Given the description of an element on the screen output the (x, y) to click on. 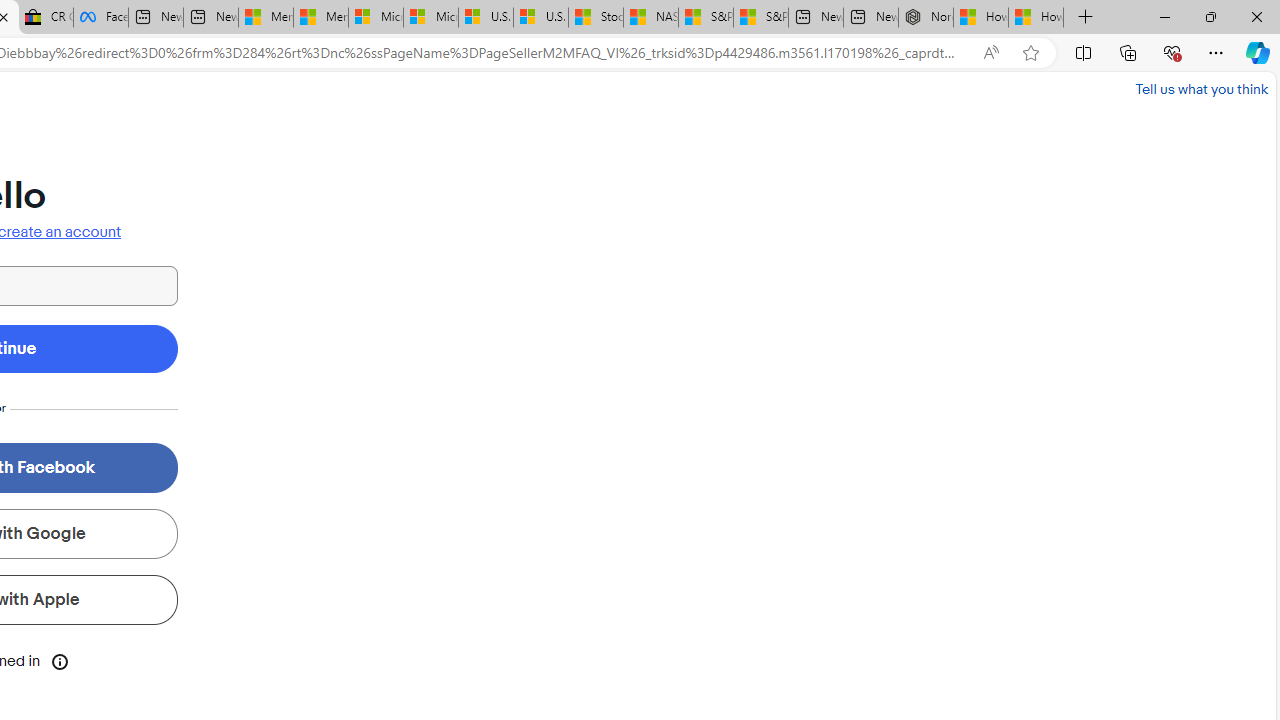
How to Use a Monitor With Your Closed Laptop (1035, 17)
Class: icon-btn tooltip__host icon-btn--transparent (59, 660)
S&P 500, Nasdaq end lower, weighed by Nvidia dip | Watch (760, 17)
Tell us what you think - Link opens in a new window (1201, 88)
